Given the description of an element on the screen output the (x, y) to click on. 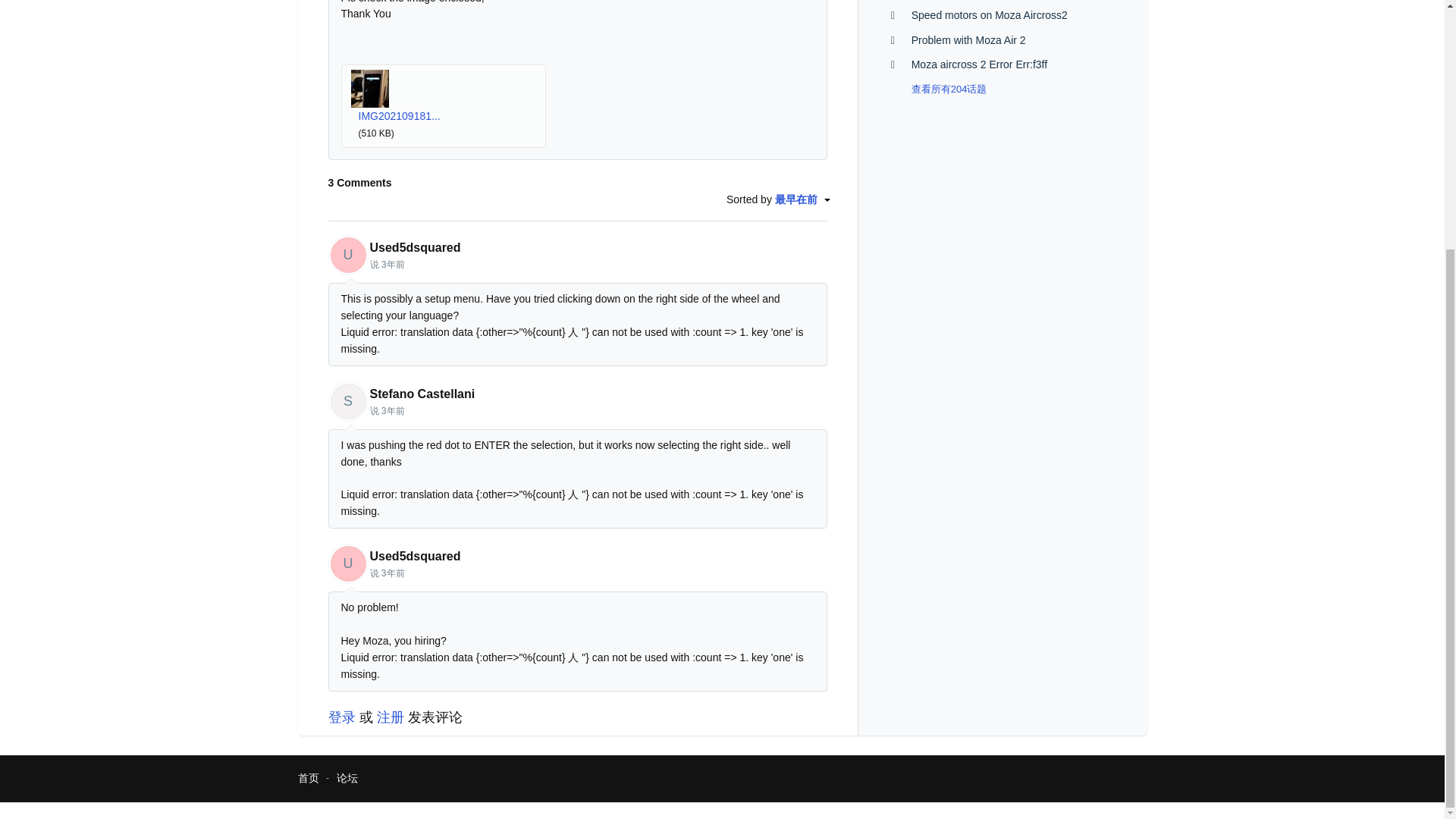
Moza aircross 2 Error Err:f3ff (978, 64)
Problem with Moza Air 2 (968, 39)
IMG202109181... (398, 115)
Speed motors on Moza Aircross2 (989, 15)
